Given the description of an element on the screen output the (x, y) to click on. 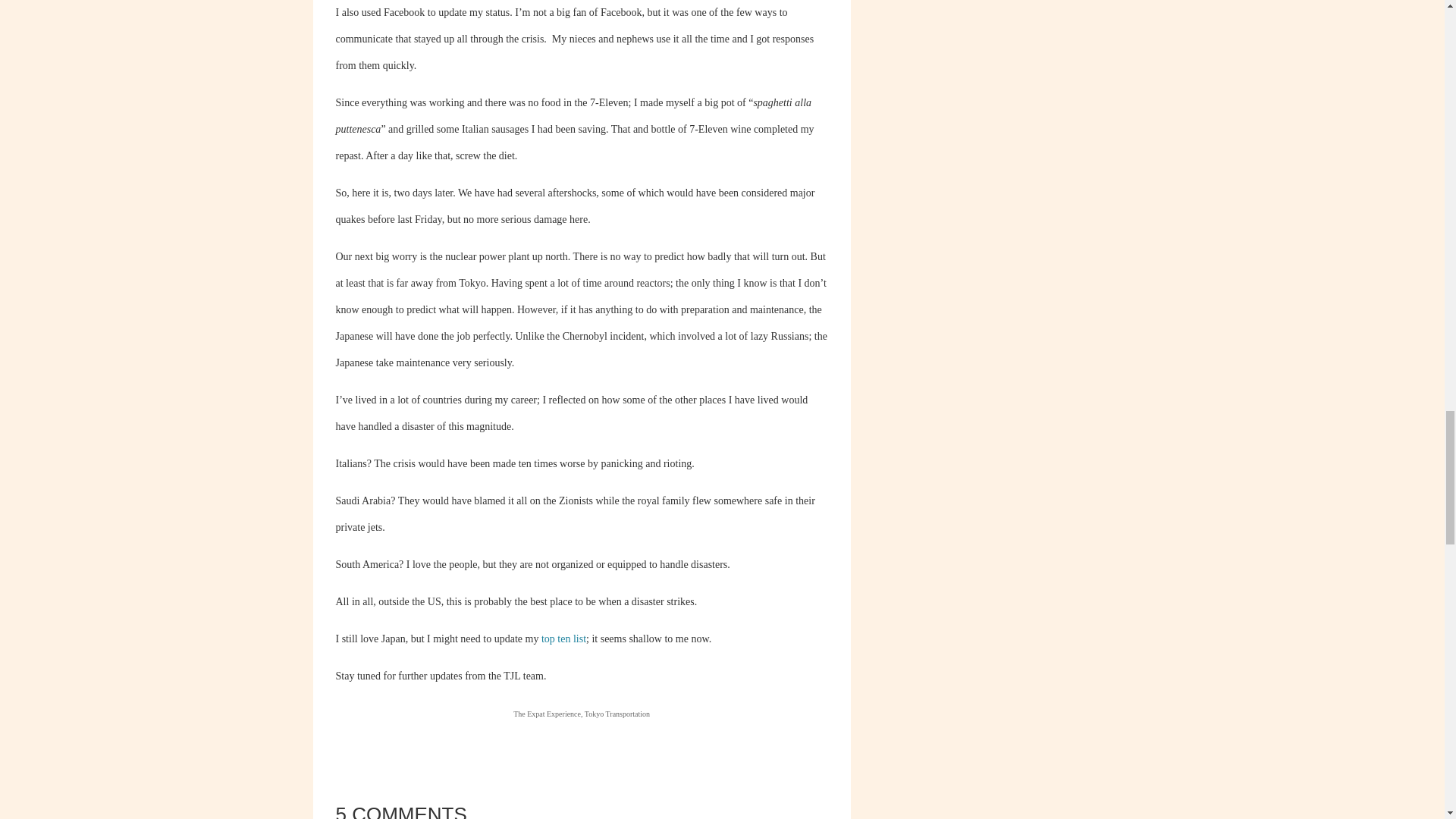
Tokyo Transportation (617, 714)
Ten Things I Love About Tokyo (563, 638)
The Expat Experience (546, 714)
top ten list (563, 638)
